Given the description of an element on the screen output the (x, y) to click on. 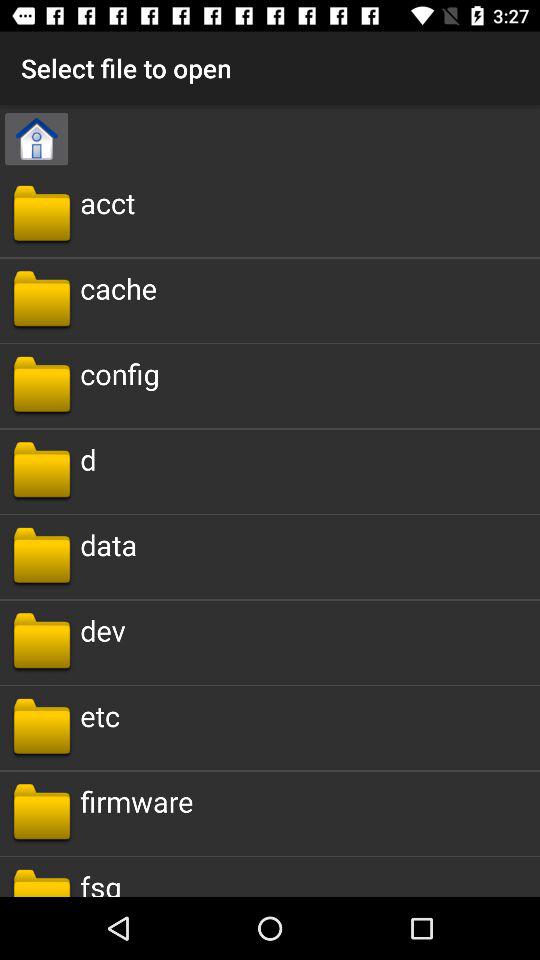
choose the icon below firmware item (100, 881)
